Given the description of an element on the screen output the (x, y) to click on. 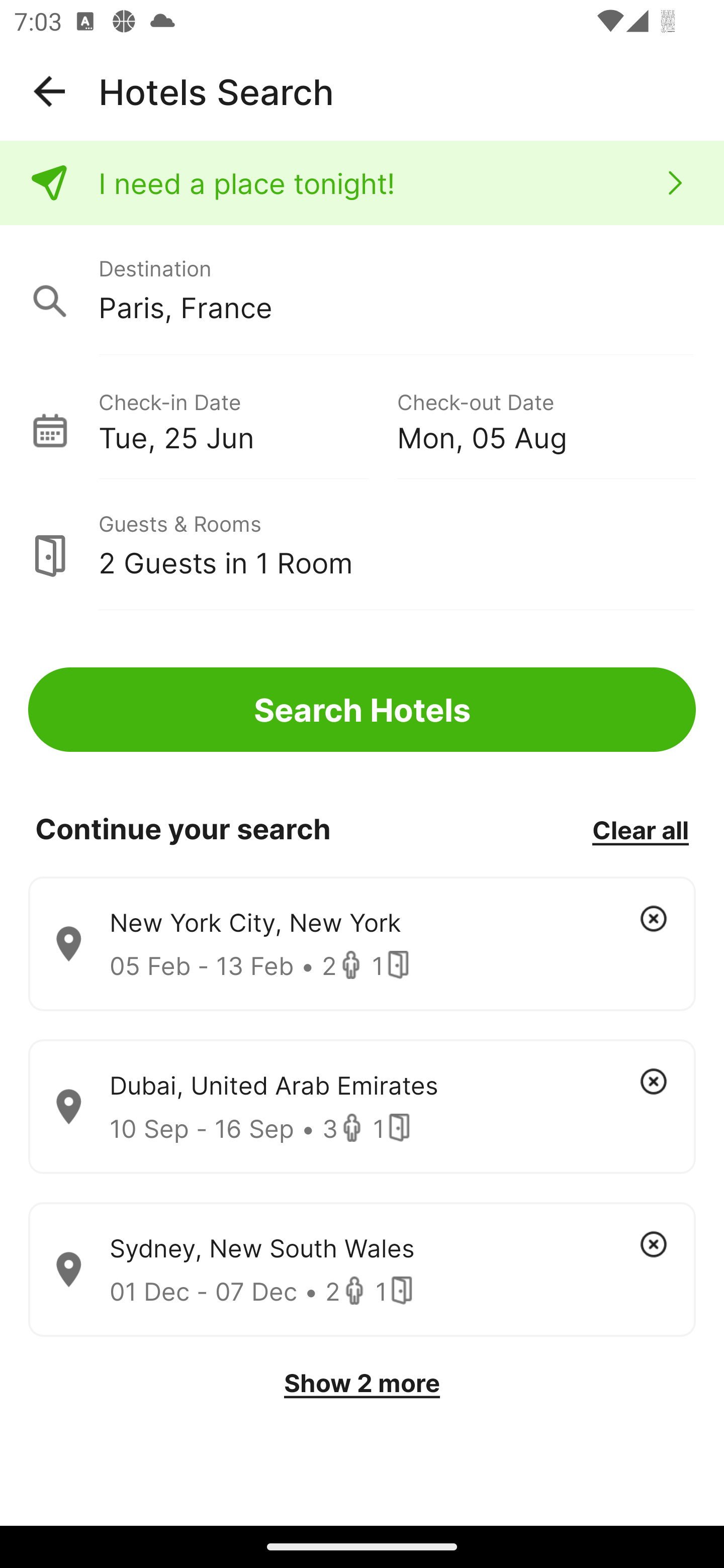
I need a place tonight! (362, 183)
Destination Paris, France (362, 290)
Check-in Date Tue, 25 Jun (247, 418)
Check-out Date Mon, 05 Aug (546, 418)
Guests & Rooms 2 Guests in 1 Room (362, 545)
Search Hotels (361, 709)
Clear all (640, 829)
New York City, New York 05 Feb - 13 Feb • 2  1  (361, 943)
Sydney, New South Wales 01 Dec - 07 Dec • 2  1  (361, 1269)
Show 2 more (362, 1382)
